Given the description of an element on the screen output the (x, y) to click on. 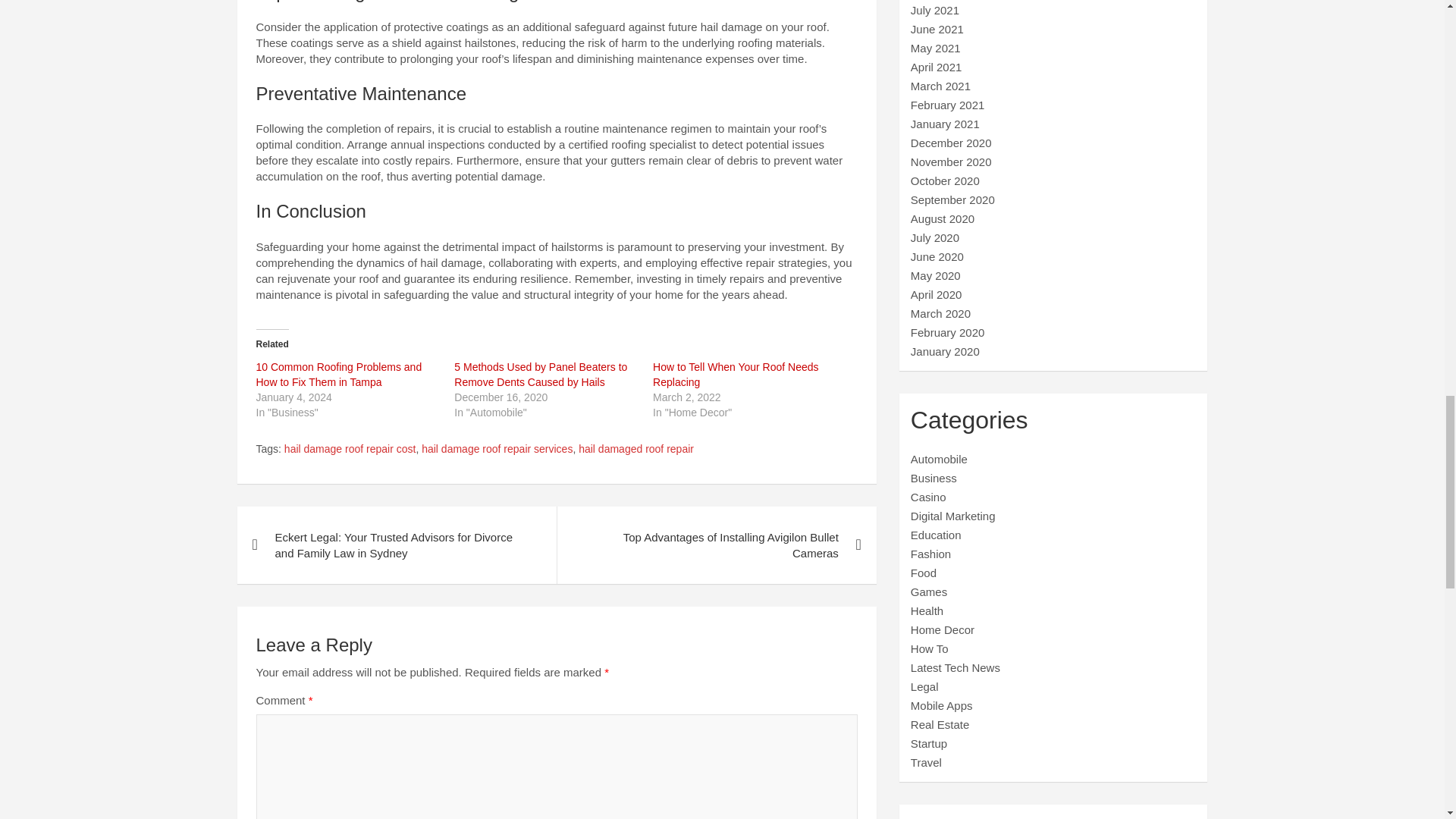
10 Common Roofing Problems and How to Fix Them in Tampa (339, 374)
hail damaged roof repair (636, 449)
hail damage roof repair cost (349, 449)
How to Tell When Your Roof Needs Replacing (735, 374)
How to Tell When Your Roof Needs Replacing (735, 374)
10 Common Roofing Problems and How to Fix Them in Tampa (339, 374)
hail damage roof repair services (497, 449)
